Given the description of an element on the screen output the (x, y) to click on. 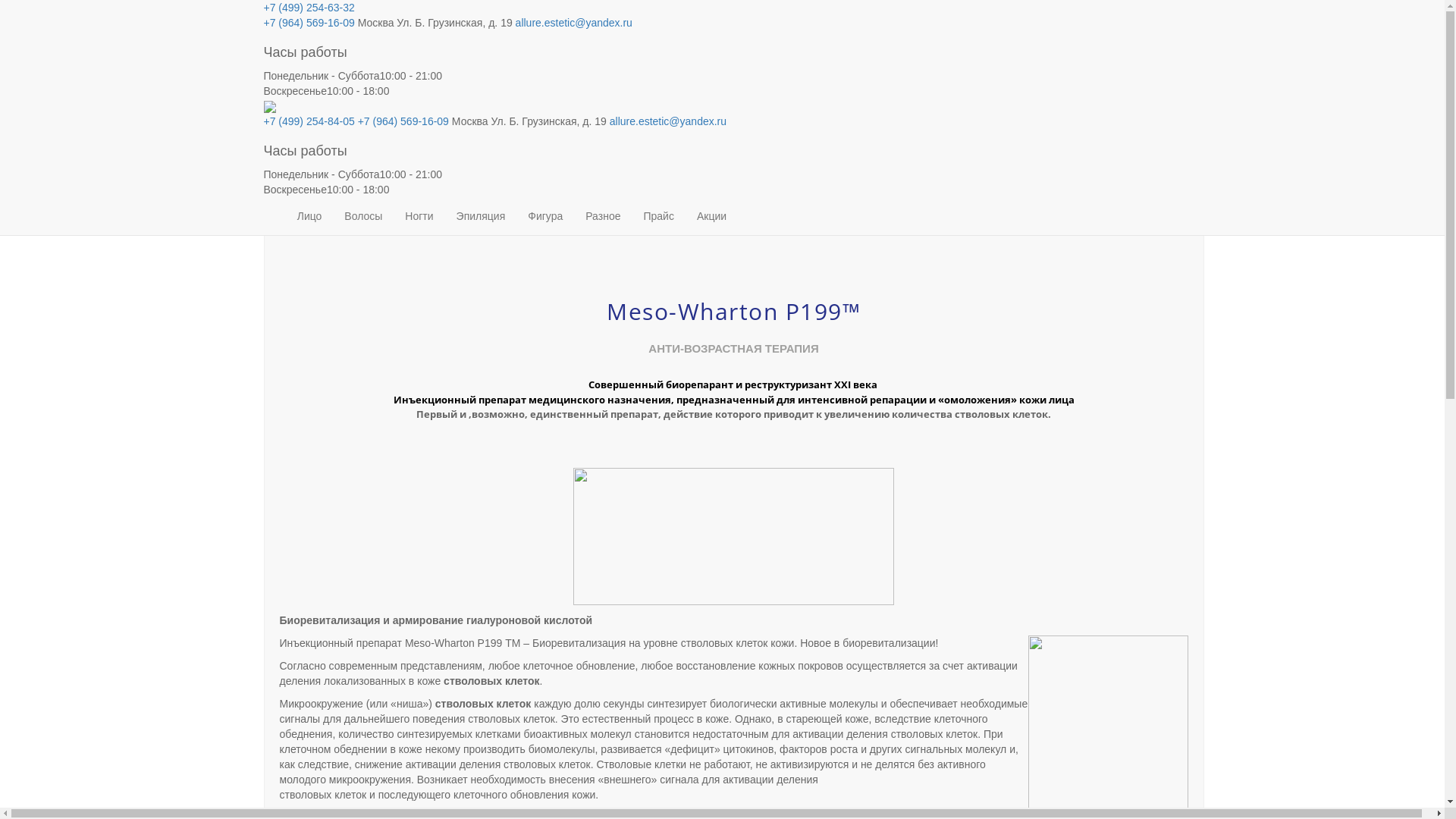
allure.estetic@yandex.ru Element type: text (667, 121)
+7 (964) 569-16-09 Element type: text (402, 121)
+7 (499) 254-63-32 Element type: text (308, 7)
allure.estetic@yandex.ru Element type: text (573, 22)
+7 (964) 569-16-09 Element type: text (308, 22)
+7 (499) 254-84-05 Element type: text (308, 121)
